Given the description of an element on the screen output the (x, y) to click on. 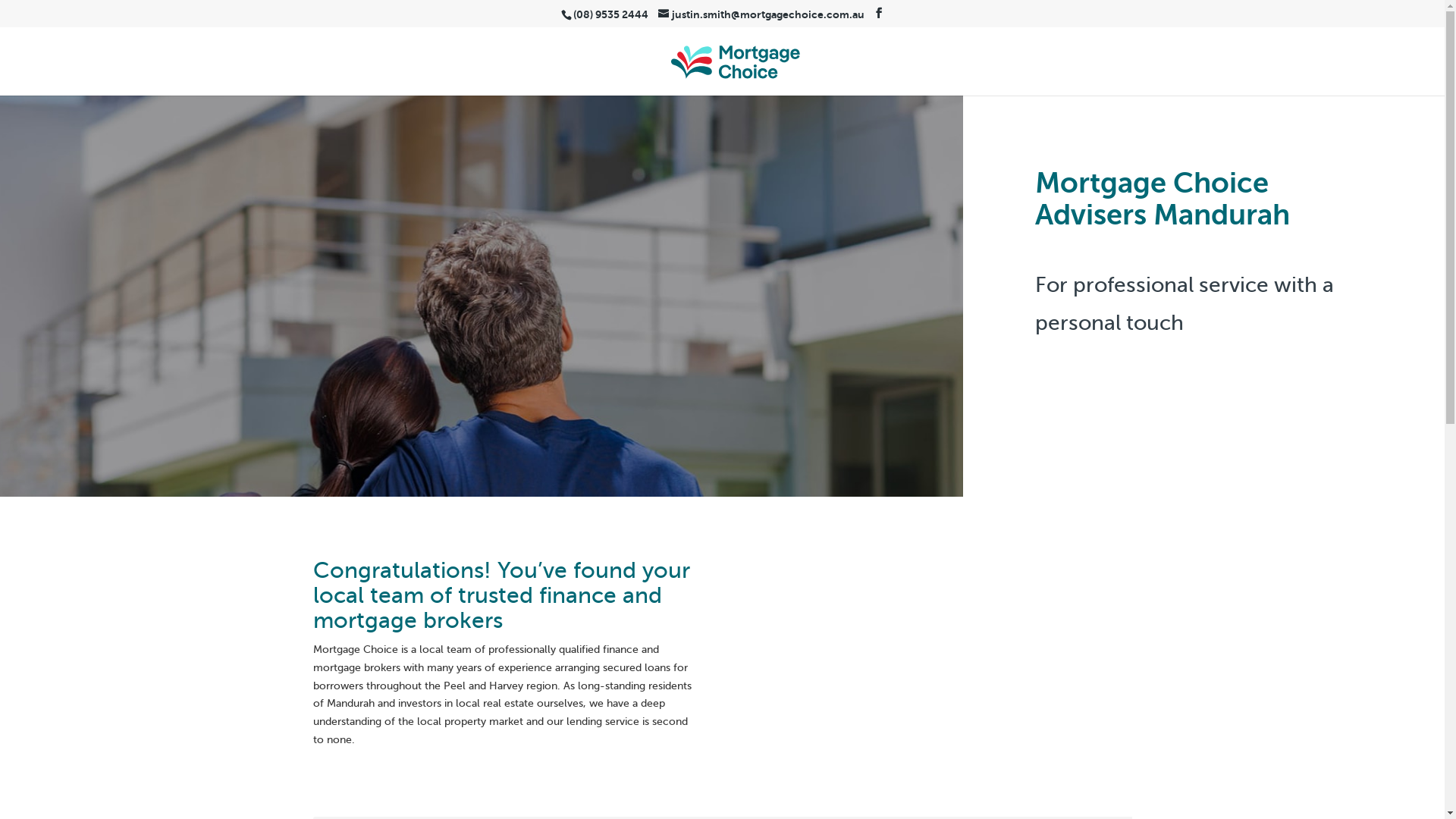
justin.smith@mortgagechoice.com.au Element type: text (761, 12)
(08) 9535 2444 Element type: text (610, 13)
How to apply for a home loan. Element type: hover (937, 666)
